Given the description of an element on the screen output the (x, y) to click on. 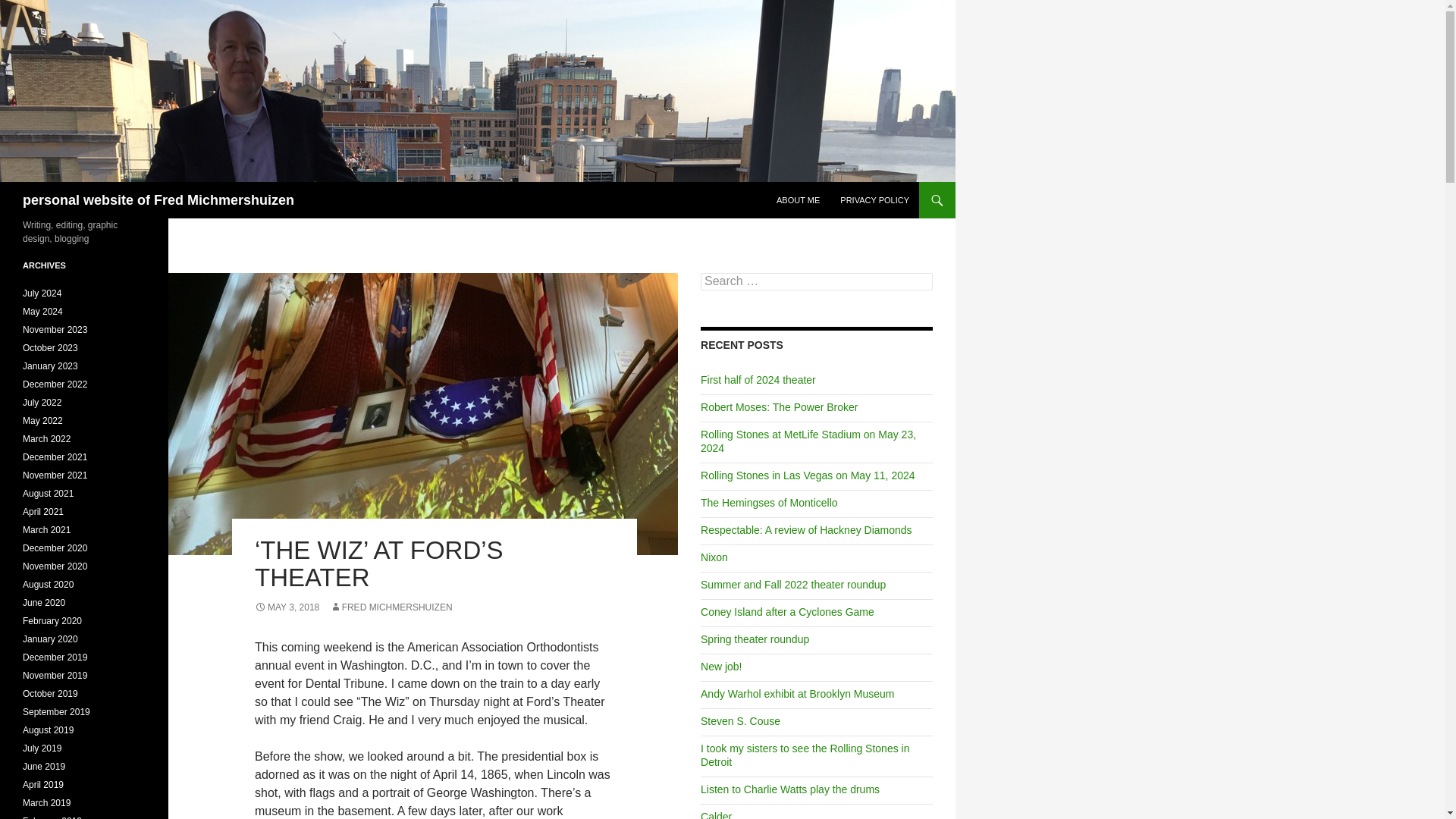
PRIVACY POLICY (874, 199)
Summer and Fall 2022 theater roundup (792, 584)
Rolling Stones at MetLife Stadium on May 23, 2024 (807, 441)
First half of 2024 theater (757, 379)
personal website of Fred Michmershuizen (158, 199)
Andy Warhol exhibit at Brooklyn Museum (796, 693)
FRED MICHMERSHUIZEN (391, 606)
ABOUT ME (797, 199)
Calder (716, 814)
Search (30, 8)
Nixon (714, 557)
Robert Moses: The Power Broker (779, 407)
Respectable: A review of Hackney Diamonds (806, 530)
